Given the description of an element on the screen output the (x, y) to click on. 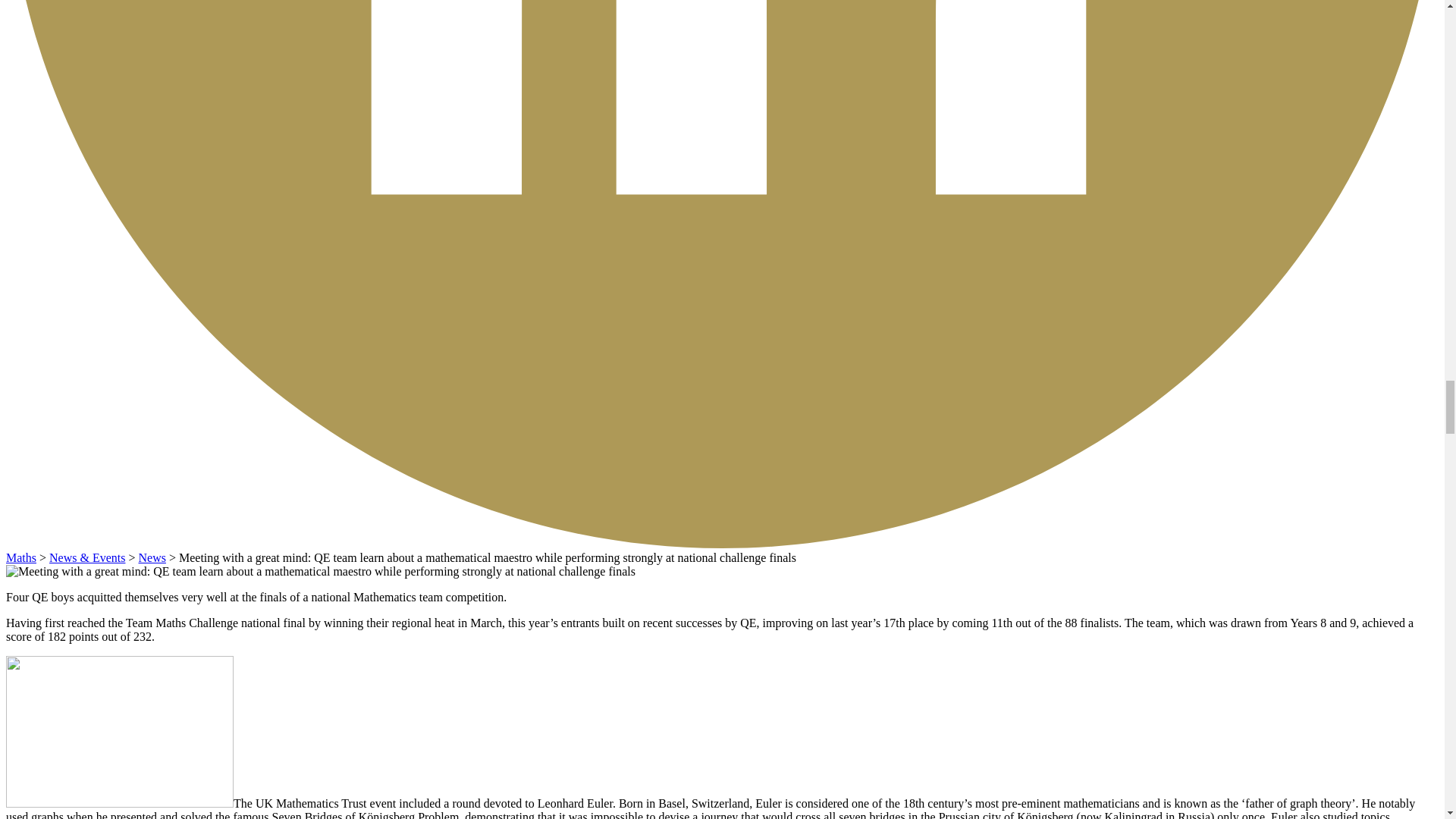
Go to News (87, 557)
Go to News (151, 557)
Go to the Maths category archives. (20, 557)
